Given the description of an element on the screen output the (x, y) to click on. 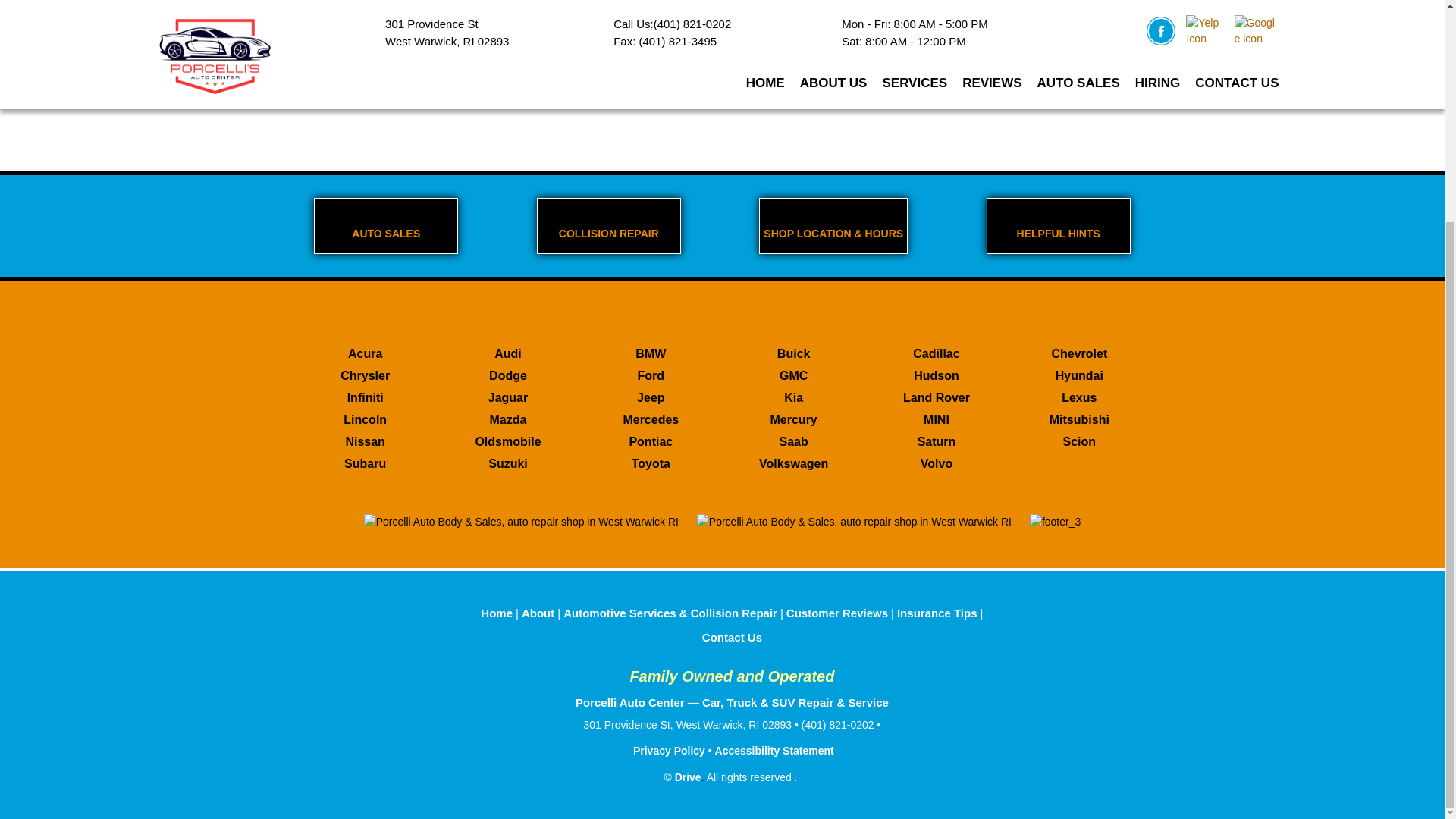
HELPFUL HINTS (1058, 226)
AUTO SALES (385, 226)
Acura (365, 353)
COLLISION REPAIR (608, 226)
Audi (507, 353)
Buick (793, 353)
footer 3 (1054, 521)
BMW (650, 353)
